Given the description of an element on the screen output the (x, y) to click on. 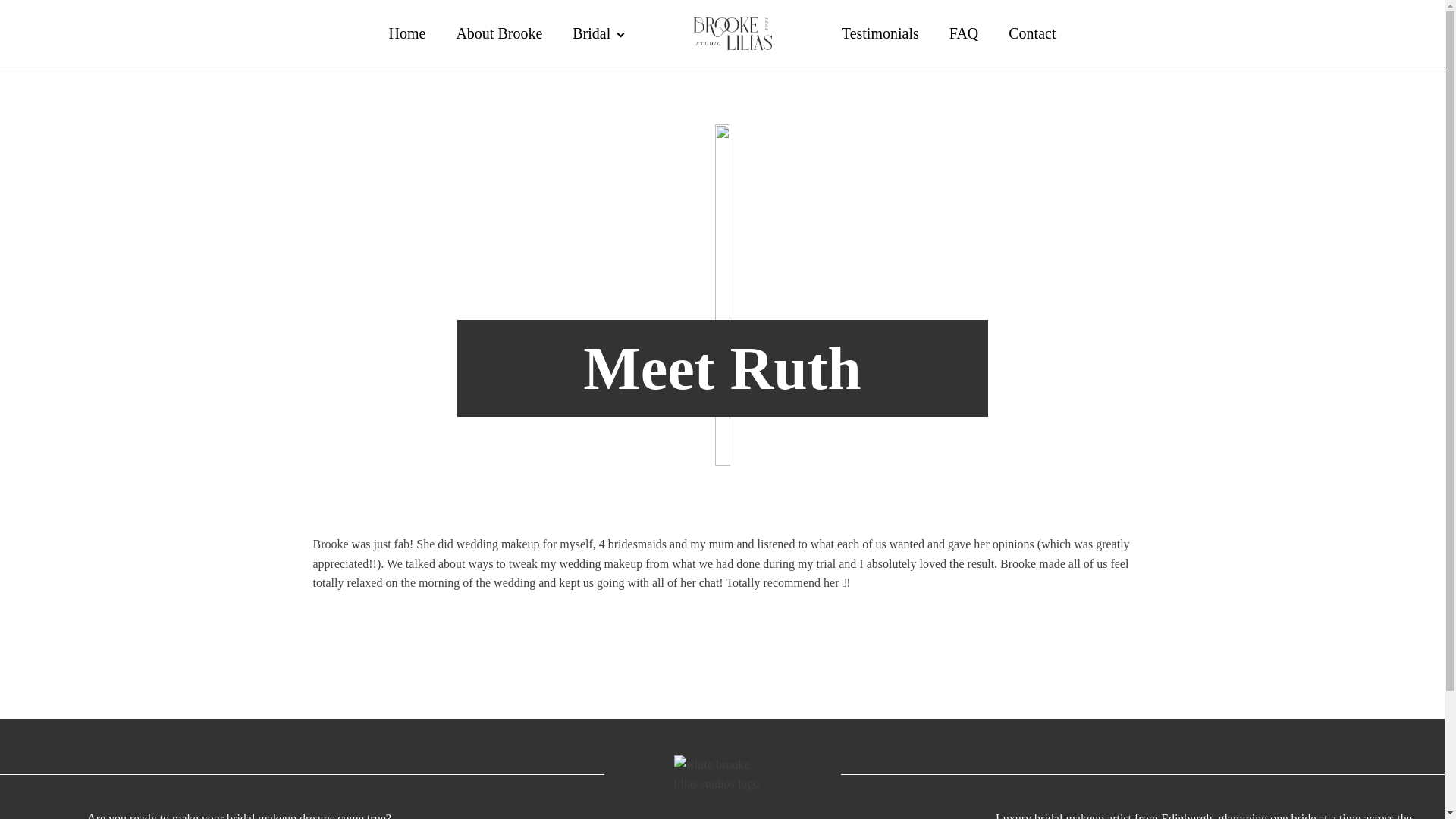
Home (406, 32)
Testimonials (880, 32)
FAQ (964, 32)
About Brooke (499, 32)
Bridal (598, 32)
Contact (1031, 32)
